Given the description of an element on the screen output the (x, y) to click on. 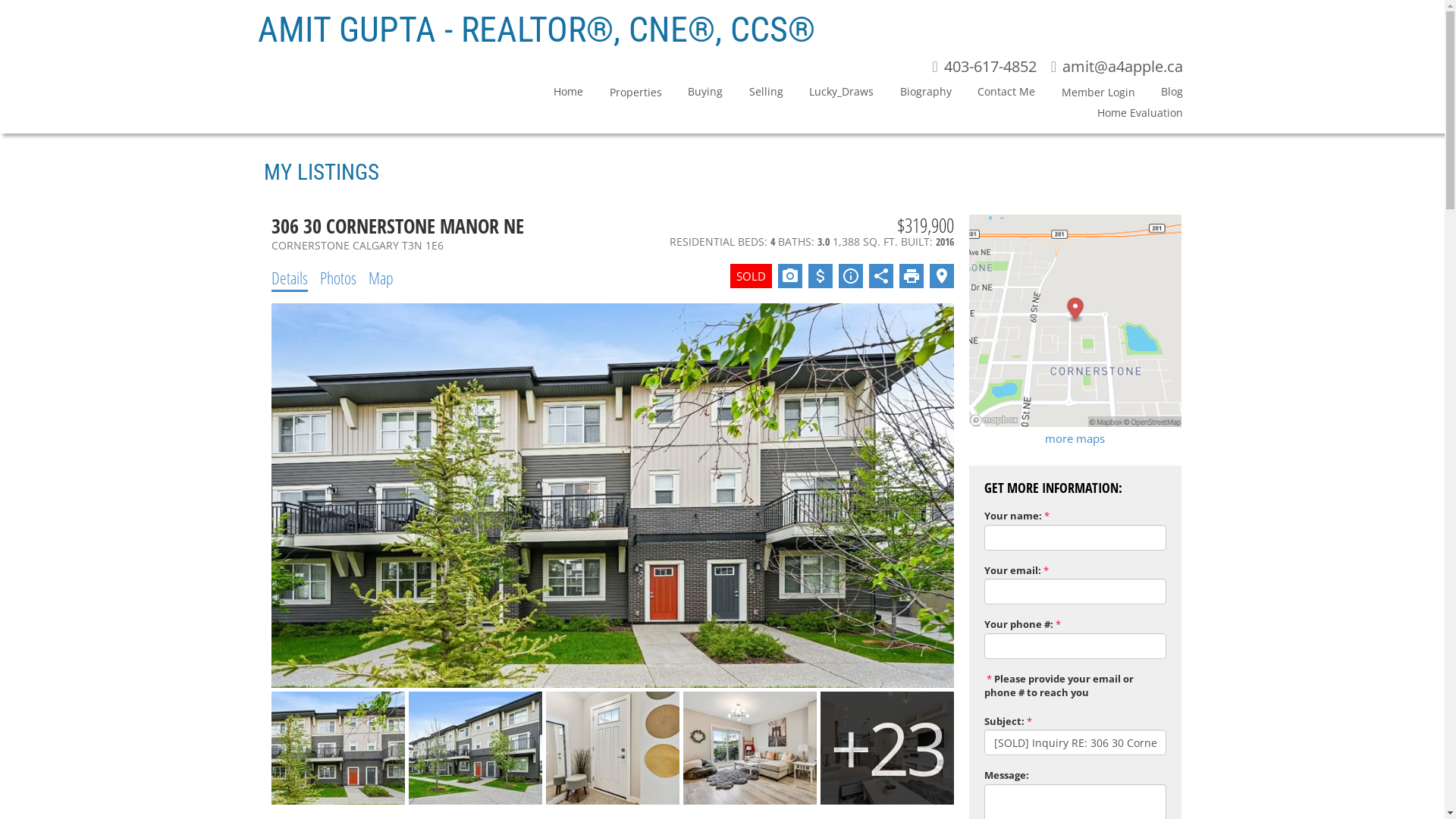
Buying Element type: text (692, 94)
Lucky_Draws Element type: text (828, 94)
Home Element type: text (555, 94)
403-617-4852 Element type: text (983, 67)
Contact Me Element type: text (993, 94)
Calculate Mortgage Element type: hover (820, 275)
Selling Element type: text (752, 94)
View photo gallery Element type: hover (790, 275)
Home Evaluation Element type: text (855, 115)
Properties Element type: text (622, 94)
Details Element type: text (289, 277)
Contact for more info Element type: hover (850, 275)
amit@a4apple.ca Element type: text (1117, 67)
View on the map Element type: hover (941, 275)
Share listing Element type: hover (881, 275)
Search Element type: text (1145, 98)
Blog Element type: text (1158, 94)
Print listing Element type: hover (911, 275)
Map Element type: text (380, 277)
Biography Element type: text (911, 94)
Photos Element type: text (338, 277)
Member Login Element type: text (1084, 94)
more maps Element type: text (1074, 437)
